Given the description of an element on the screen output the (x, y) to click on. 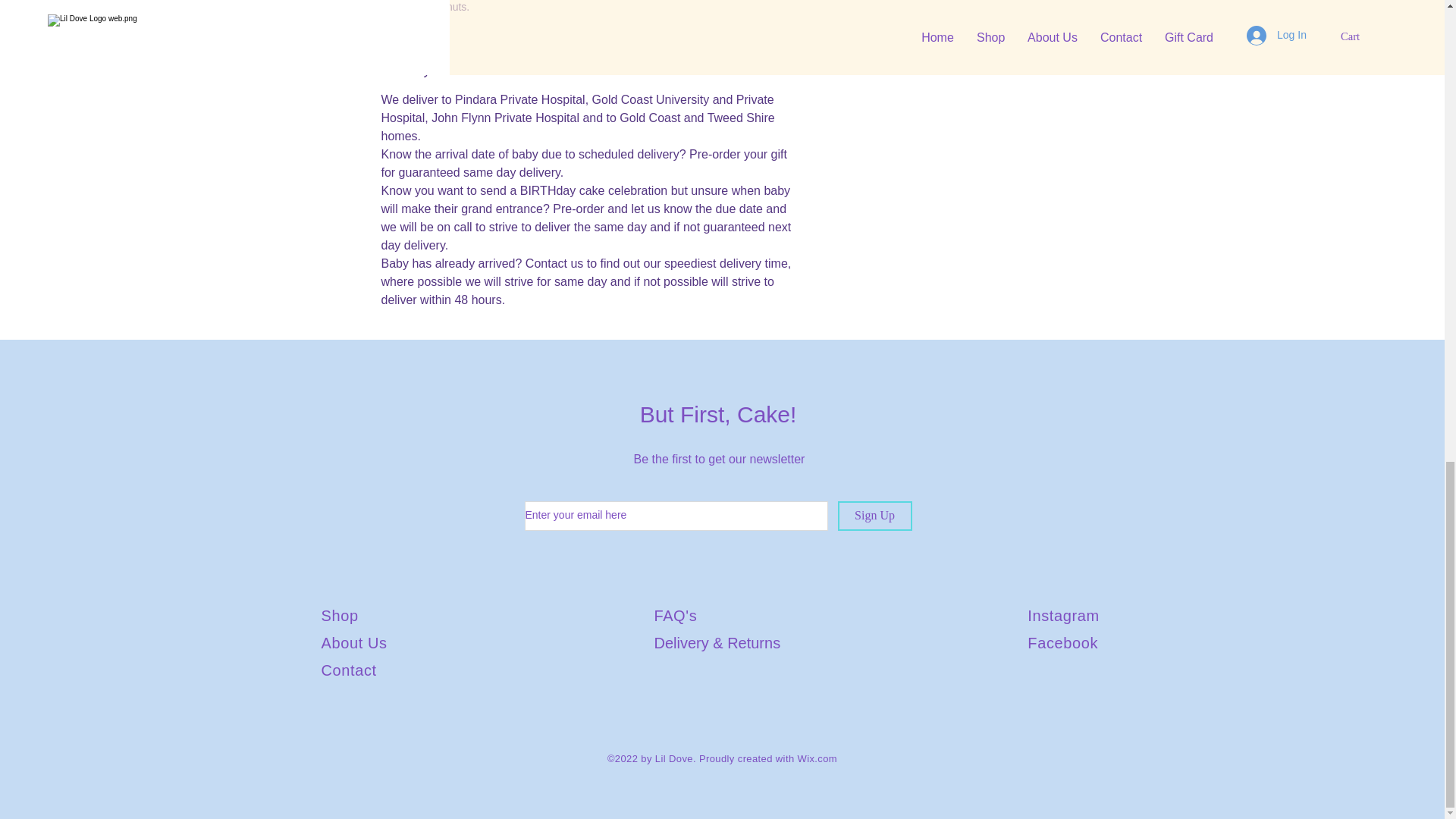
Wix.com (817, 758)
Facebook (1062, 642)
About Us (354, 642)
Contact (349, 669)
Shop (339, 615)
Sign Up (874, 515)
Instagram (1063, 615)
FAQ's (675, 615)
